Given the description of an element on the screen output the (x, y) to click on. 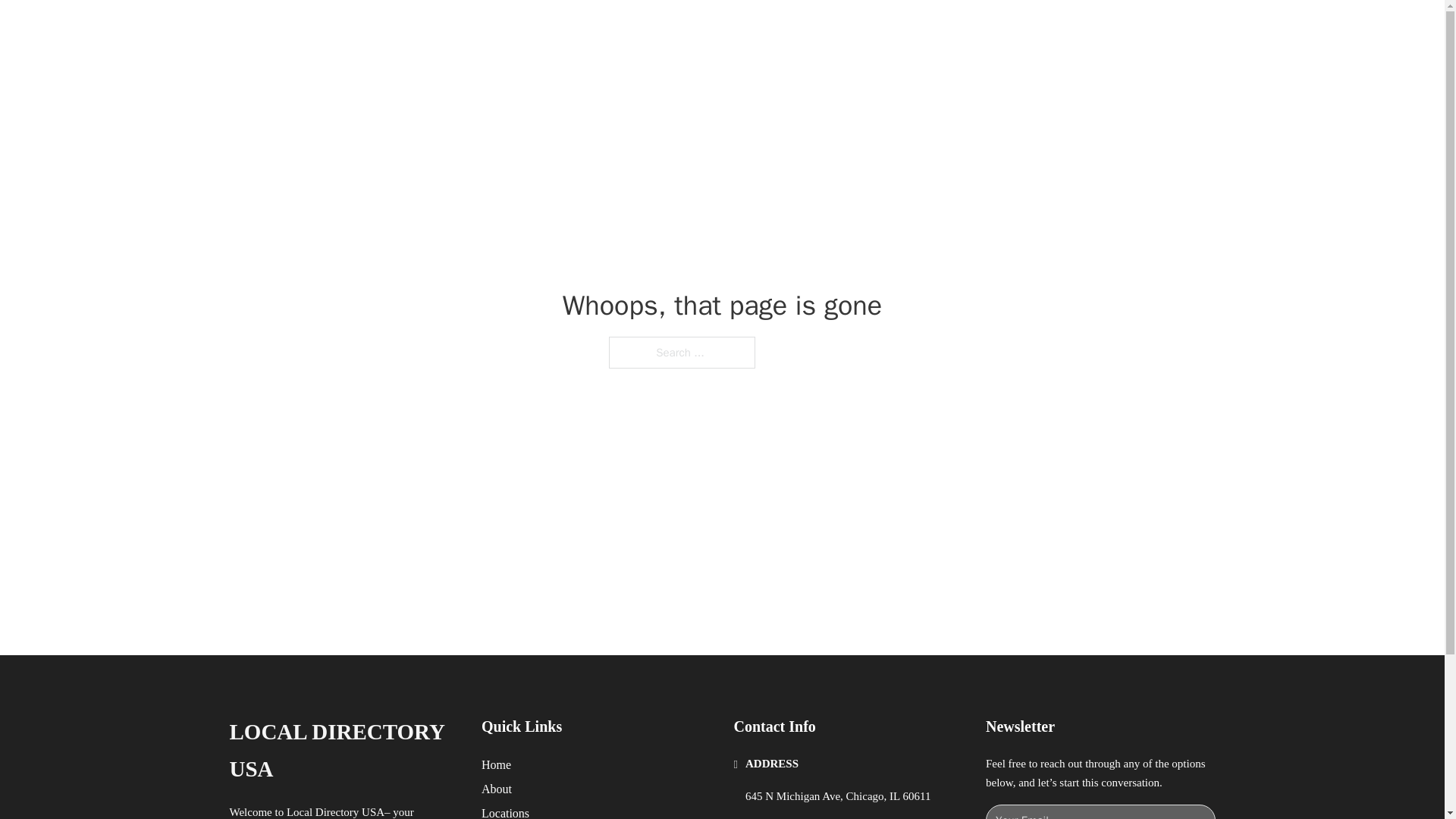
Locations (505, 811)
HOME (919, 29)
LOCAL DIRECTORY USA (425, 28)
Home (496, 764)
LOCATIONS (990, 29)
About (496, 788)
LOCAL DIRECTORY USA (343, 750)
